Given the description of an element on the screen output the (x, y) to click on. 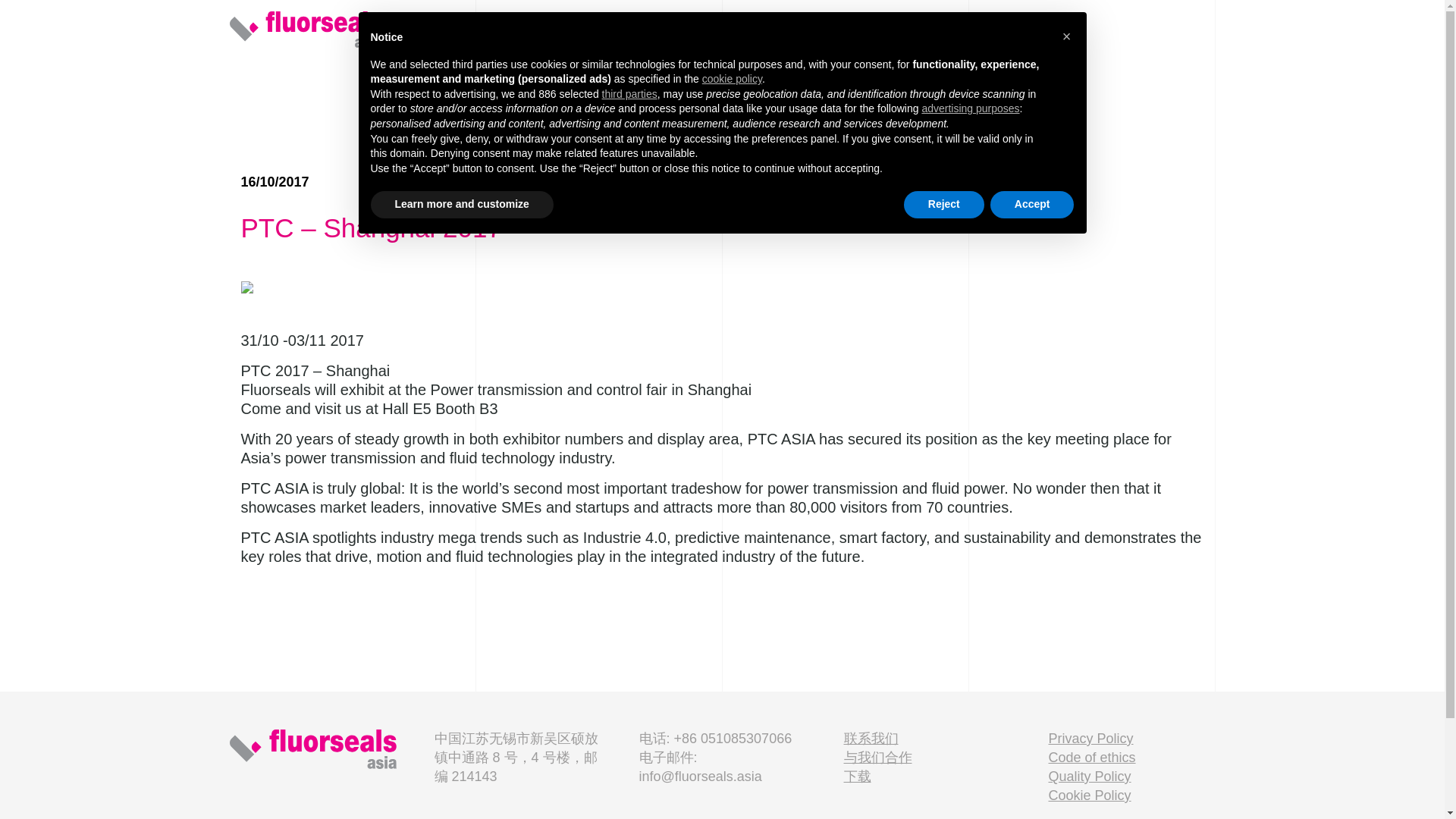
Cookie Policy  (1089, 795)
Learn more and customize (461, 204)
cookie policy (731, 78)
Quality Policy (1089, 776)
third parties (630, 94)
Accept (1032, 204)
Privacy Policy (1090, 738)
Cookie Policy (1089, 795)
Reject (944, 204)
Code of ethics (1091, 757)
